Given the description of an element on the screen output the (x, y) to click on. 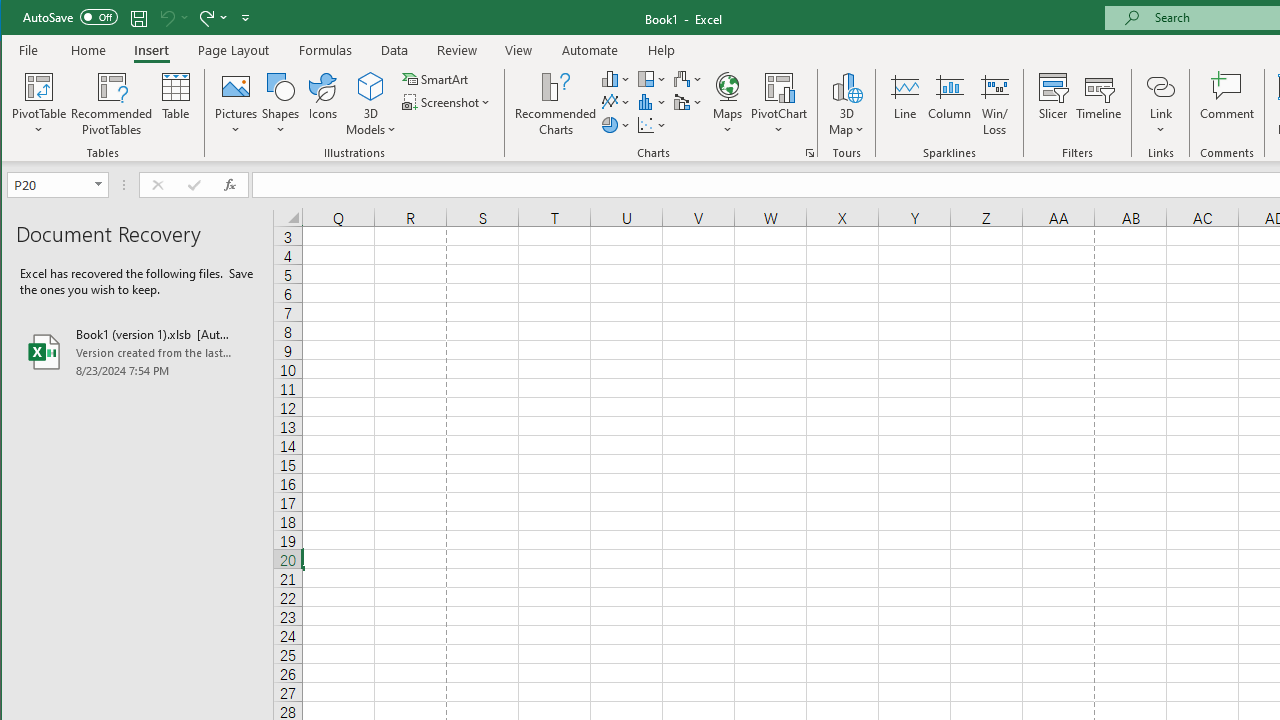
Insert Pie or Doughnut Chart (616, 124)
Comment (1227, 104)
3D Map (846, 86)
Table (175, 104)
PivotTable (39, 86)
SmartArt... (436, 78)
3D Map (846, 104)
Maps (727, 104)
